Given the description of an element on the screen output the (x, y) to click on. 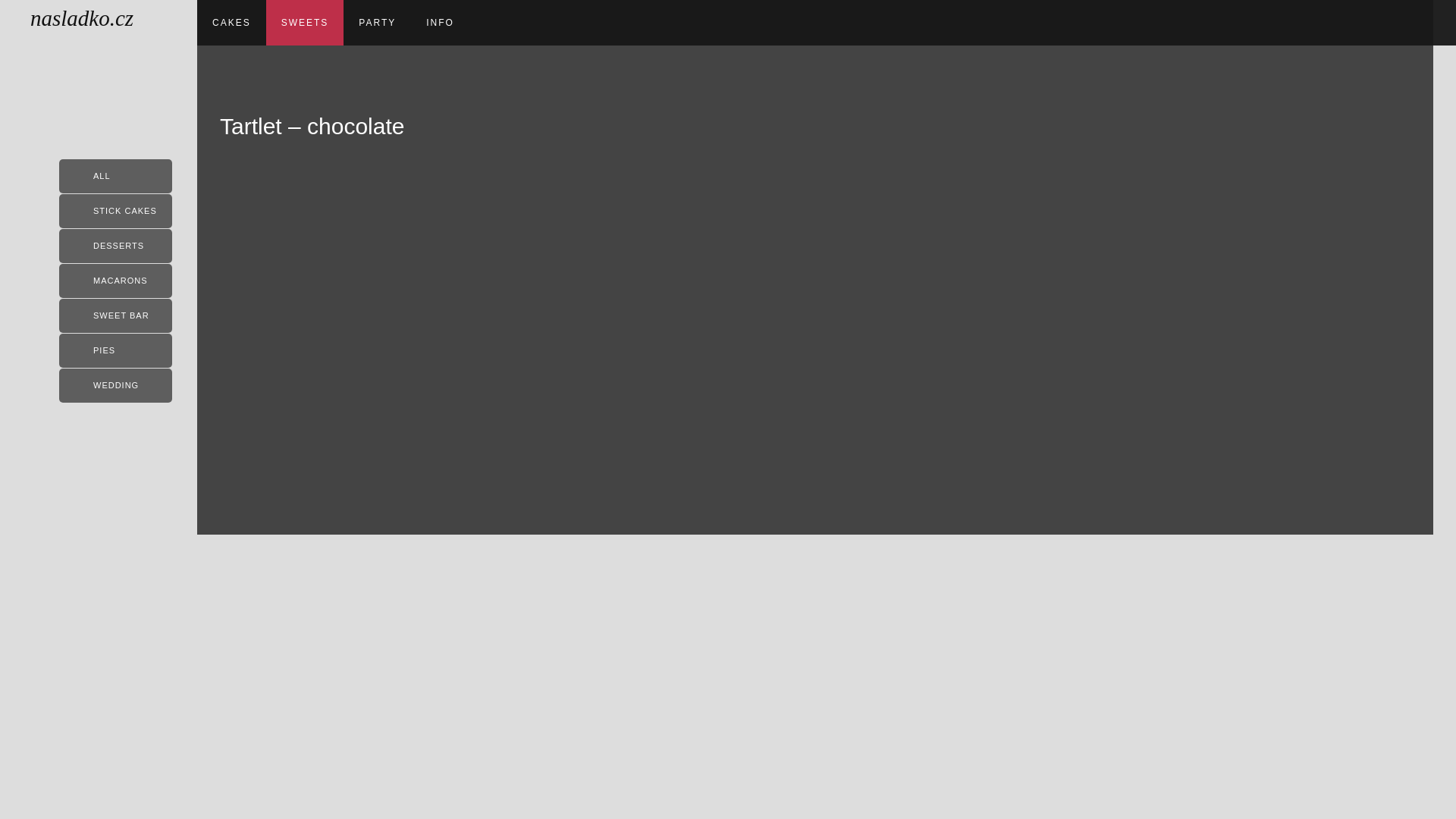
SWEETS (304, 22)
Cakes (231, 22)
INFO (439, 22)
CAKES (231, 22)
PARTY (376, 22)
